Given the description of an element on the screen output the (x, y) to click on. 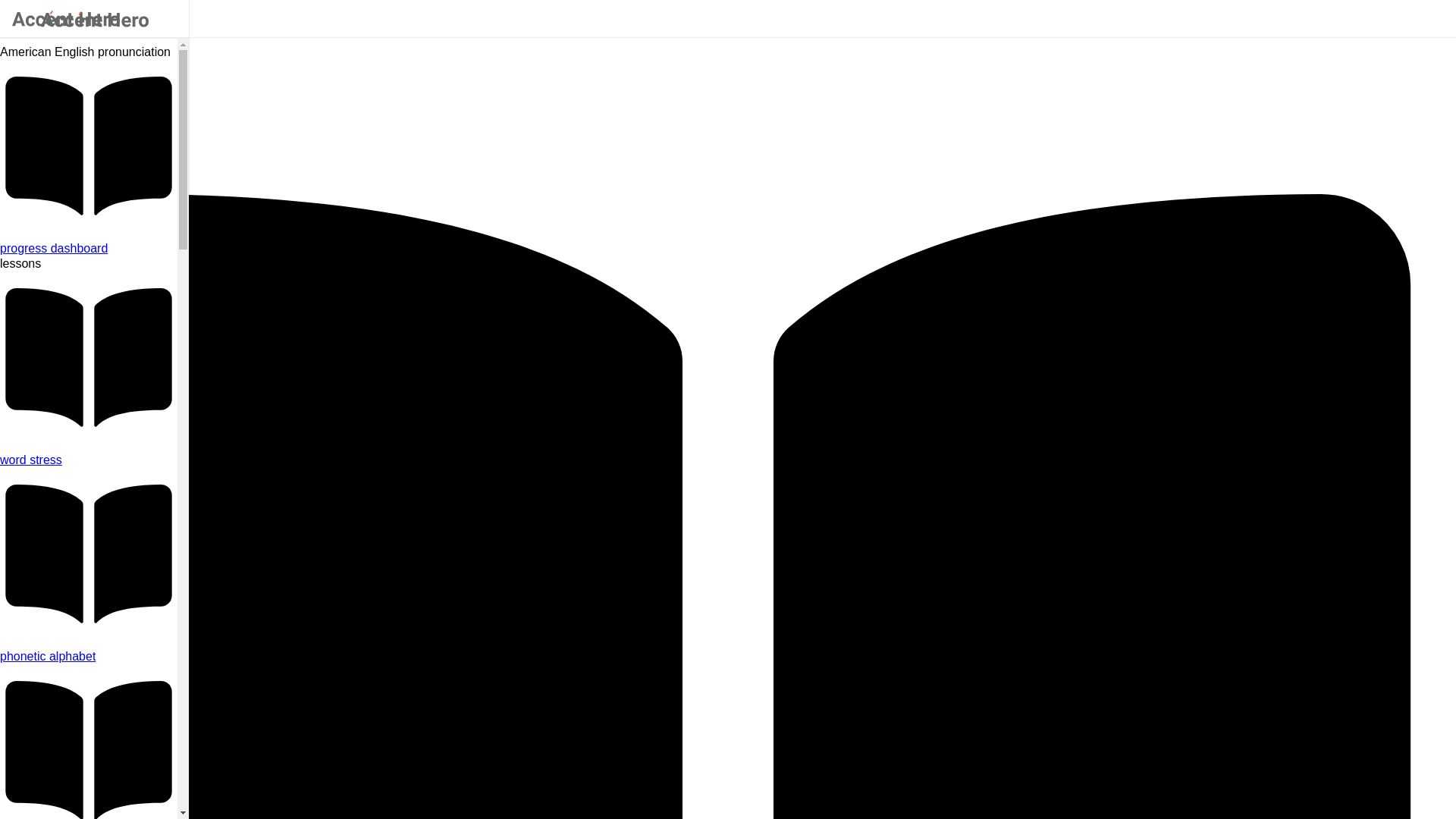
Learn to precisely articulate each sound (88, 656)
Learn how word stress influences your accent (88, 459)
